Given the description of an element on the screen output the (x, y) to click on. 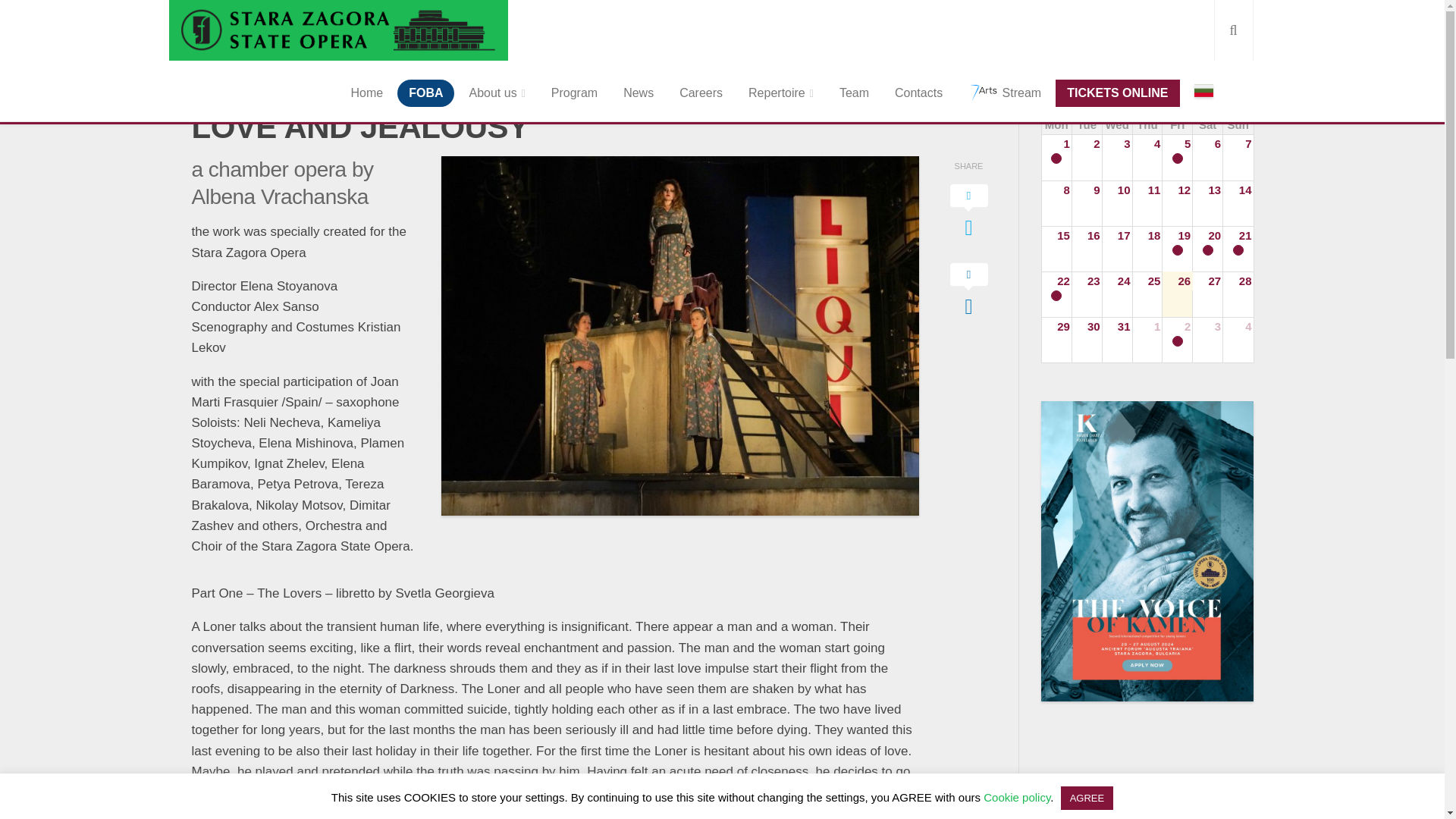
Home (366, 93)
Program (574, 93)
Careers (700, 93)
FOBA (425, 93)
About us (496, 93)
Repertoire (780, 93)
News (638, 93)
